Given the description of an element on the screen output the (x, y) to click on. 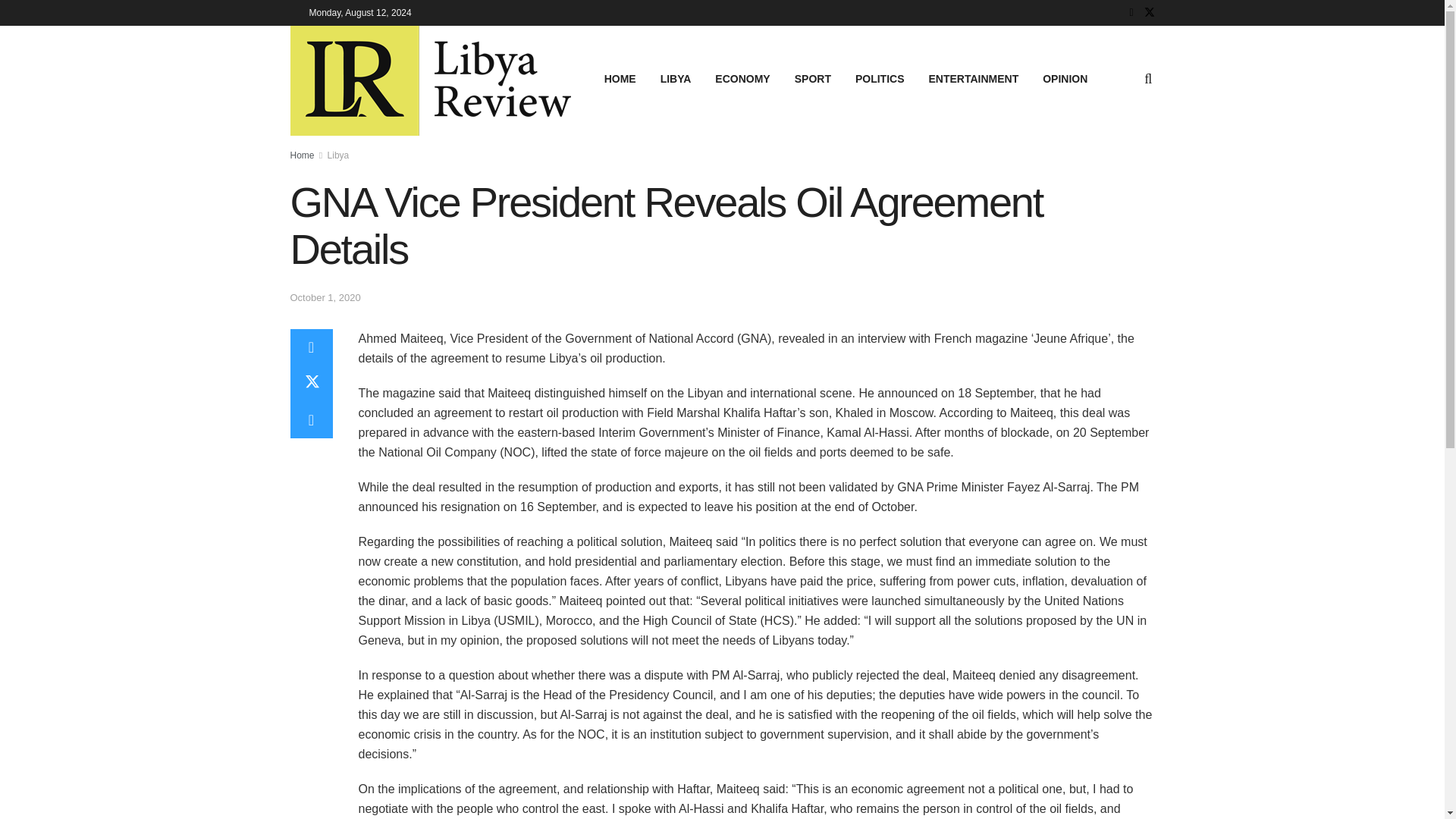
OPINION (1064, 78)
Home (301, 154)
POLITICS (880, 78)
ECONOMY (742, 78)
ENTERTAINMENT (972, 78)
LIBYA (675, 78)
HOME (619, 78)
Libya (338, 154)
October 1, 2020 (324, 297)
SPORT (813, 78)
